Given the description of an element on the screen output the (x, y) to click on. 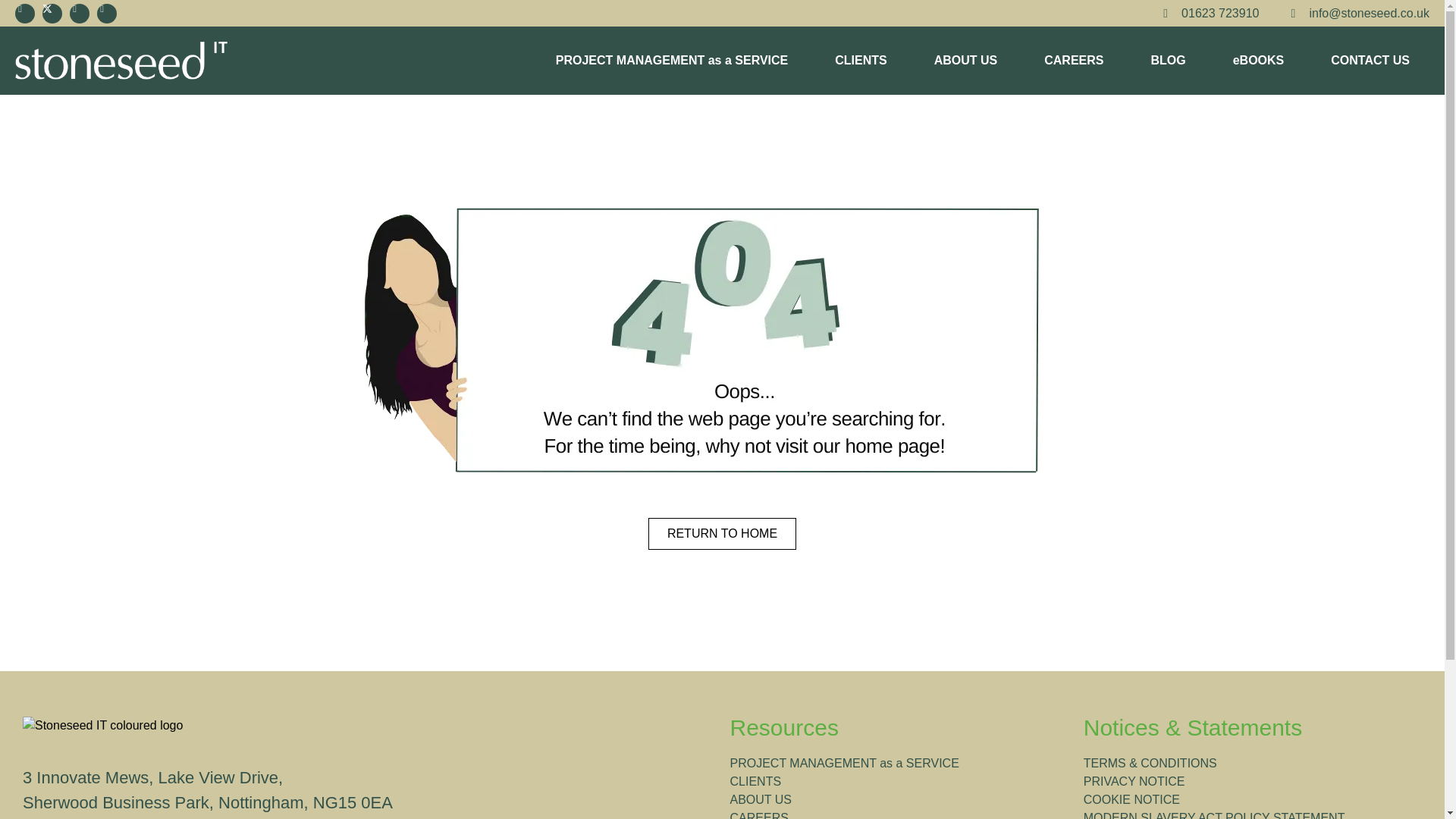
eBOOKS (1258, 60)
CAREERS (1073, 60)
PROJECT MANAGEMENT as a SERVICE (671, 60)
CONTACT US (1370, 60)
01623 723910 (1206, 13)
BLOG (1168, 60)
CLIENTS (860, 60)
ABOUT US (965, 60)
